Given the description of an element on the screen output the (x, y) to click on. 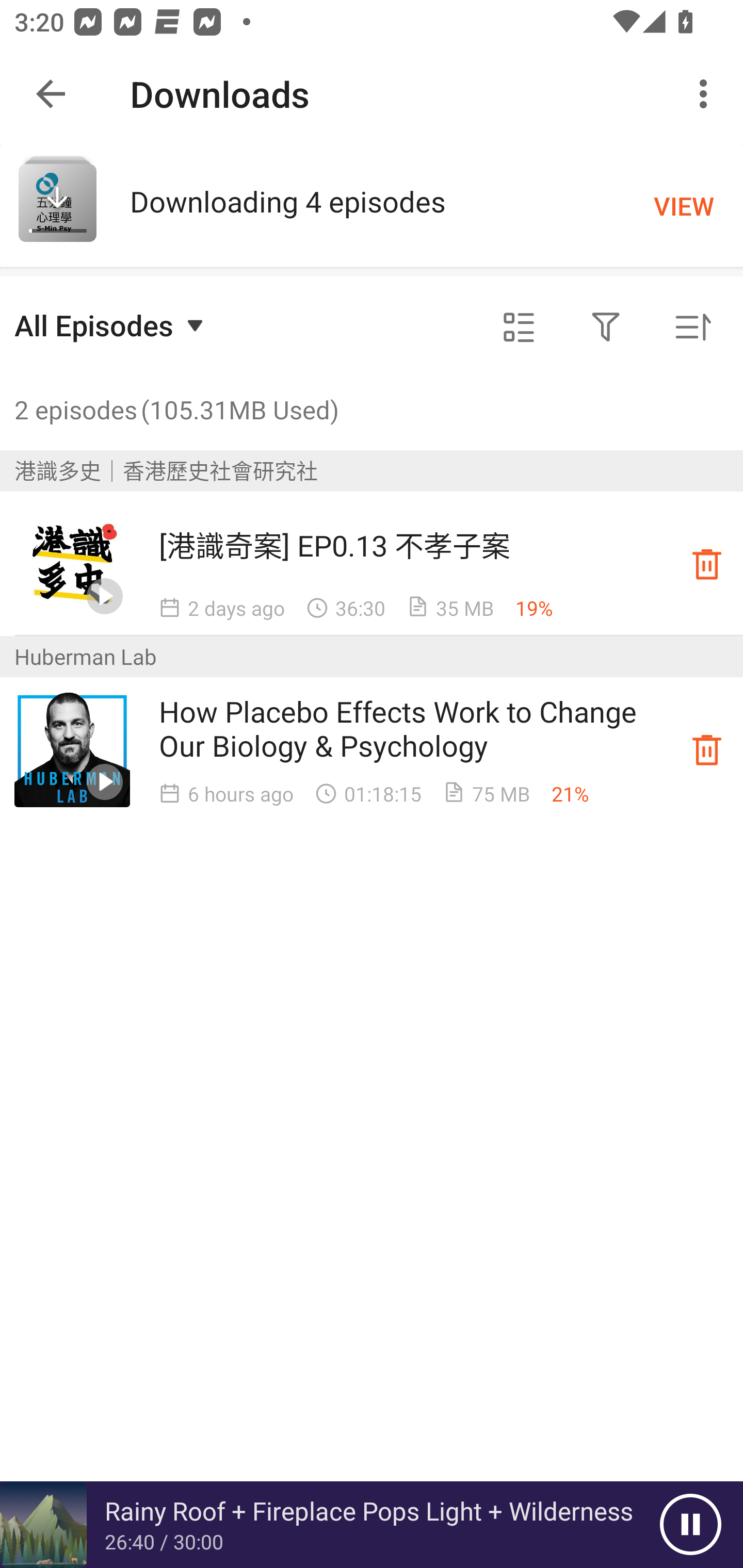
Navigate up (50, 93)
More options (706, 93)
5.0 Downloading 4 episodes VIEW (371, 205)
All Episodes (111, 325)
 (518, 327)
 (605, 327)
 Sorted by oldest first (692, 327)
Downloaded (706, 563)
Downloaded (706, 749)
Pause (690, 1524)
